Given the description of an element on the screen output the (x, y) to click on. 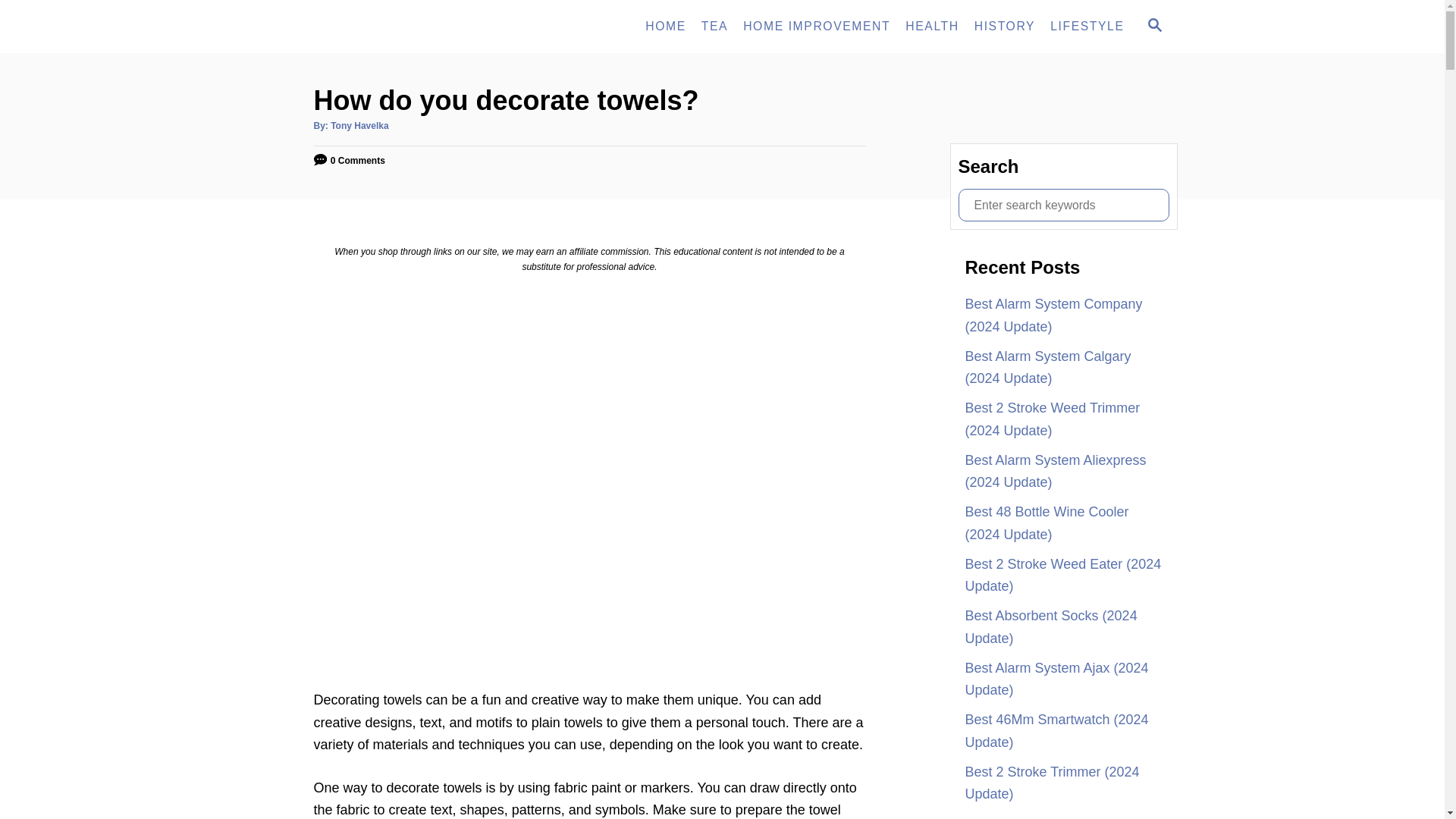
Liquid Image (403, 26)
HISTORY (1153, 26)
HEALTH (1004, 26)
Tony Havelka (932, 26)
HOME IMPROVEMENT (359, 125)
LIFESTYLE (816, 26)
HOME (1086, 26)
YouTube player (665, 26)
TEA (1153, 24)
